Given the description of an element on the screen output the (x, y) to click on. 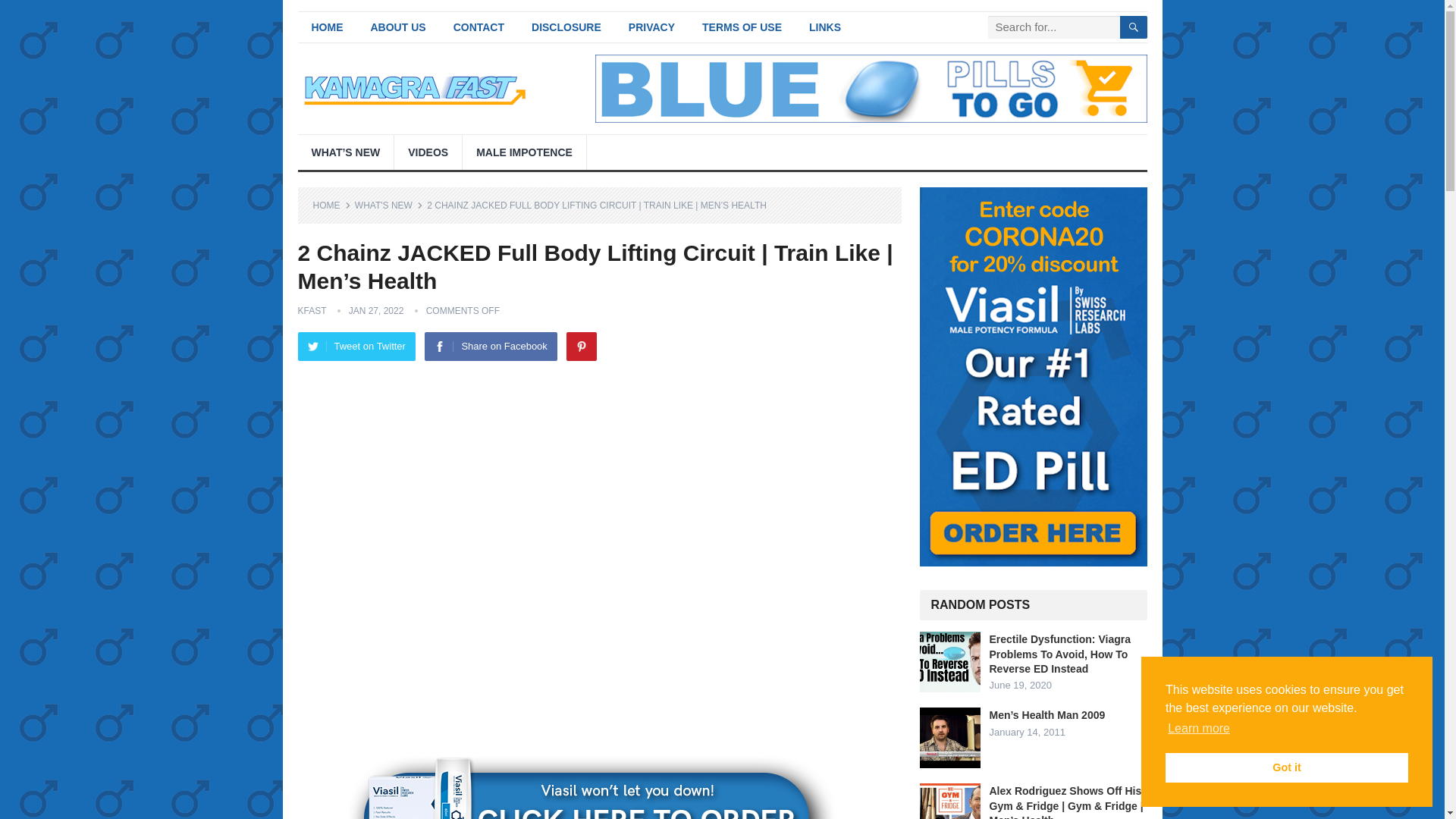
WHAT'S NEW (389, 204)
ABOUT US (397, 27)
Men's Health Man 2009 14 (948, 737)
Male Impotence and Erectile Dysfunction (524, 152)
TERMS OF USE (741, 27)
HOME (326, 27)
Pinterest (581, 346)
KFAST (311, 310)
Tweet on Twitter (355, 346)
Learn more (1198, 728)
Got it (1286, 767)
Posts by KFast (311, 310)
VIDEOS (427, 152)
View all posts in What's New (389, 204)
Share on Facebook (490, 346)
